Given the description of an element on the screen output the (x, y) to click on. 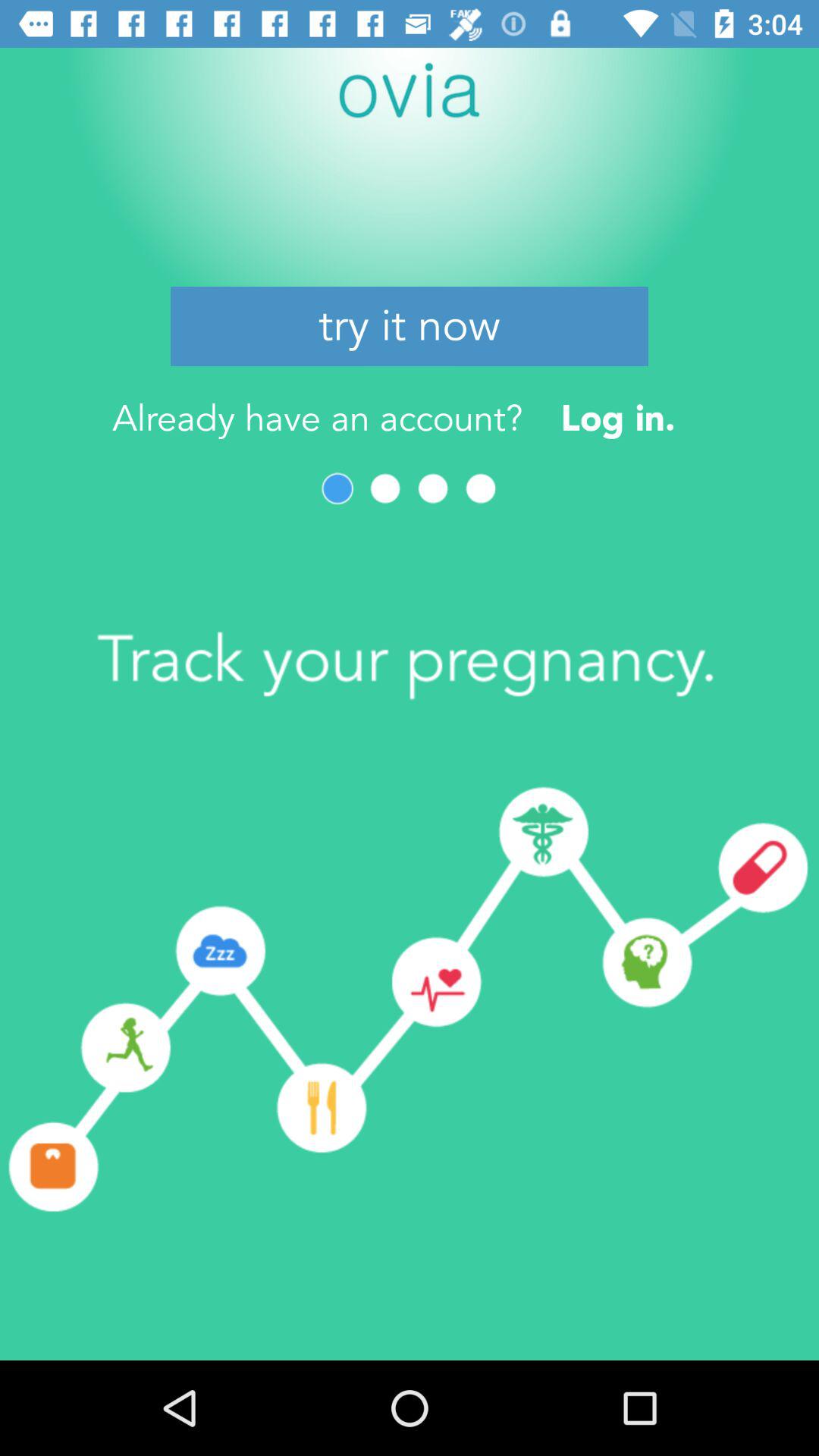
choose icon to the right of already have an icon (617, 417)
